Given the description of an element on the screen output the (x, y) to click on. 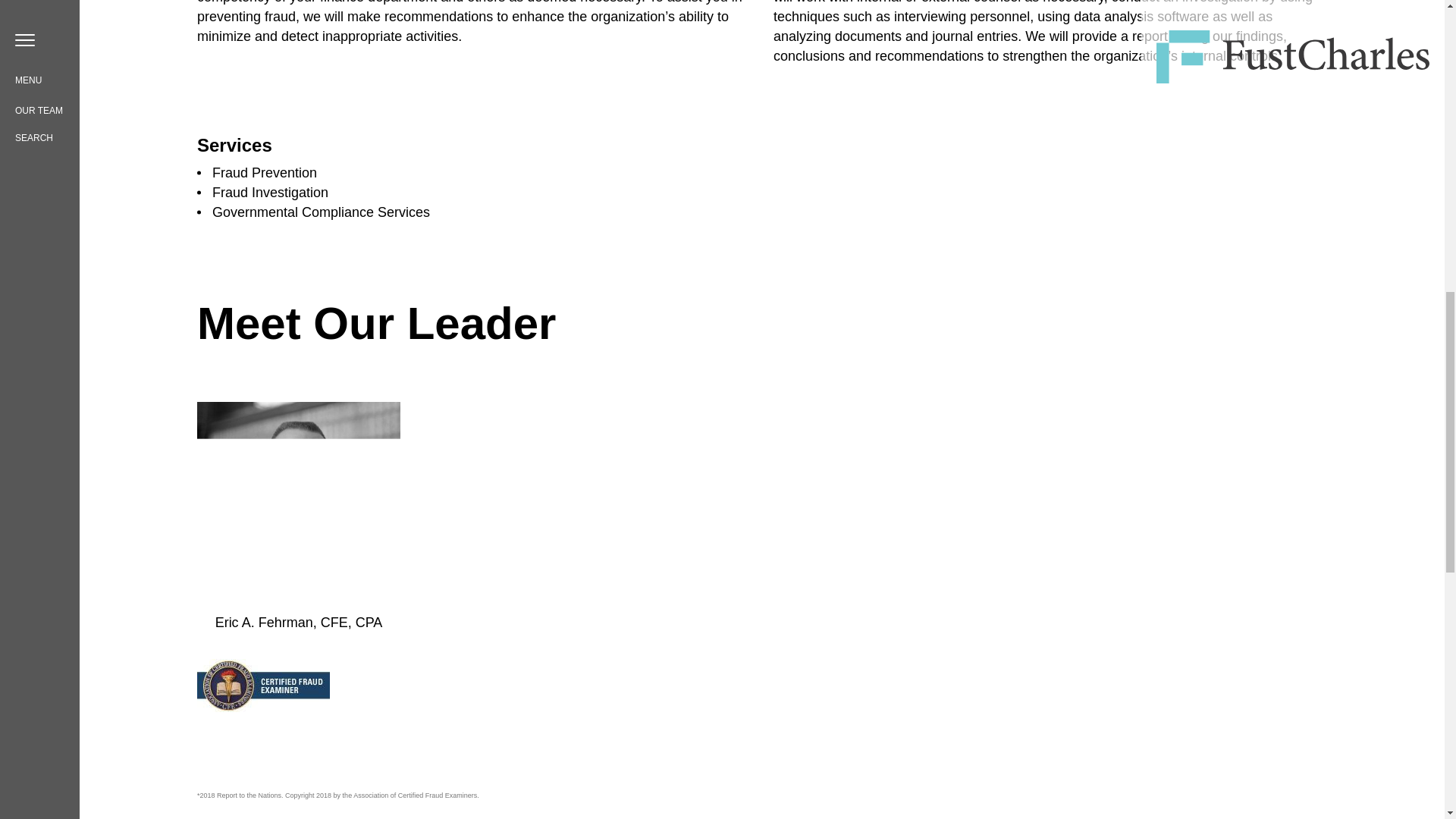
Eric A. Fehrman, CFE, CPA (298, 622)
